Given the description of an element on the screen output the (x, y) to click on. 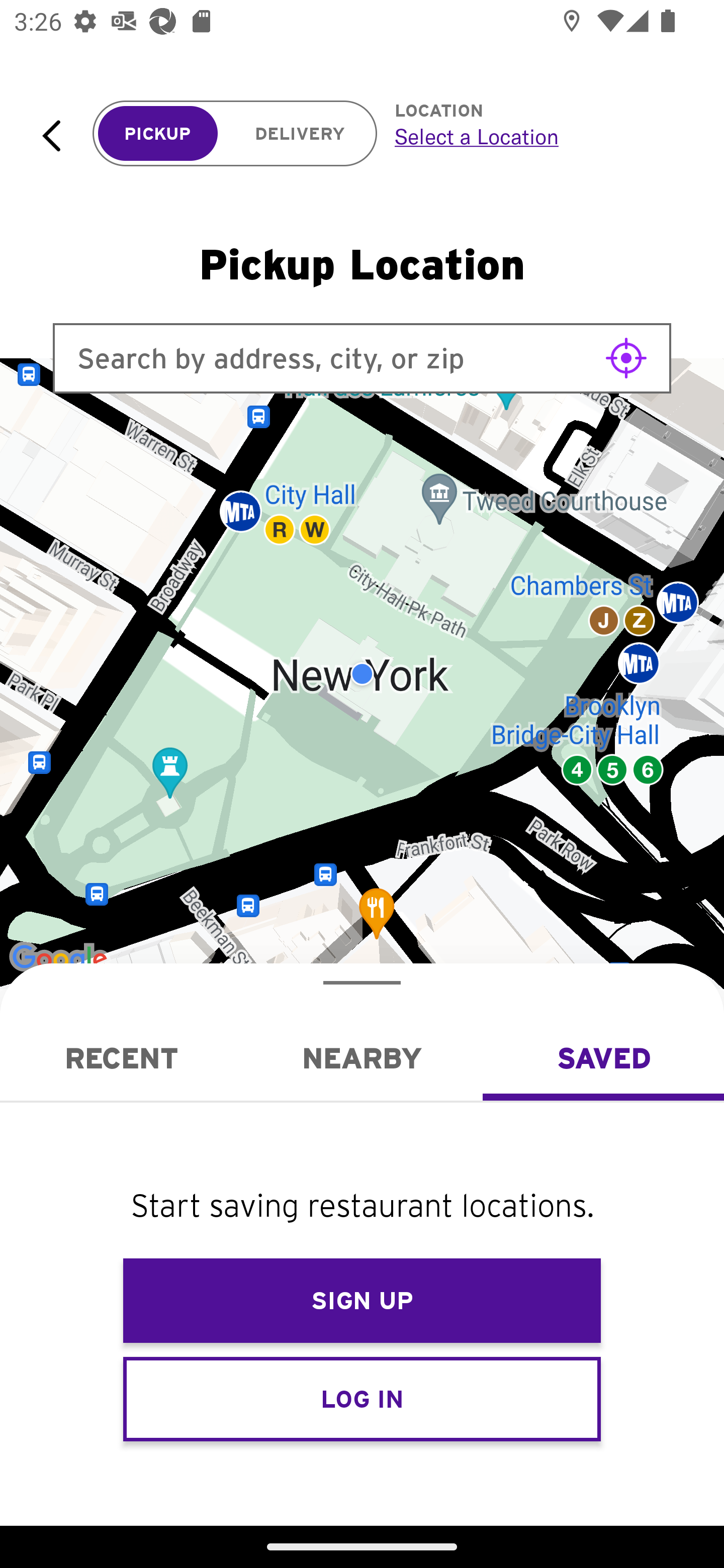
PICKUP (157, 133)
DELIVERY (299, 133)
Select a Location (536, 136)
Search by address, city, or zip (361, 358)
Google Map (362, 674)
Recent RECENT (120, 1058)
Nearby NEARBY (361, 1058)
SIGN UP (361, 1300)
LOG IN (361, 1398)
